Given the description of an element on the screen output the (x, y) to click on. 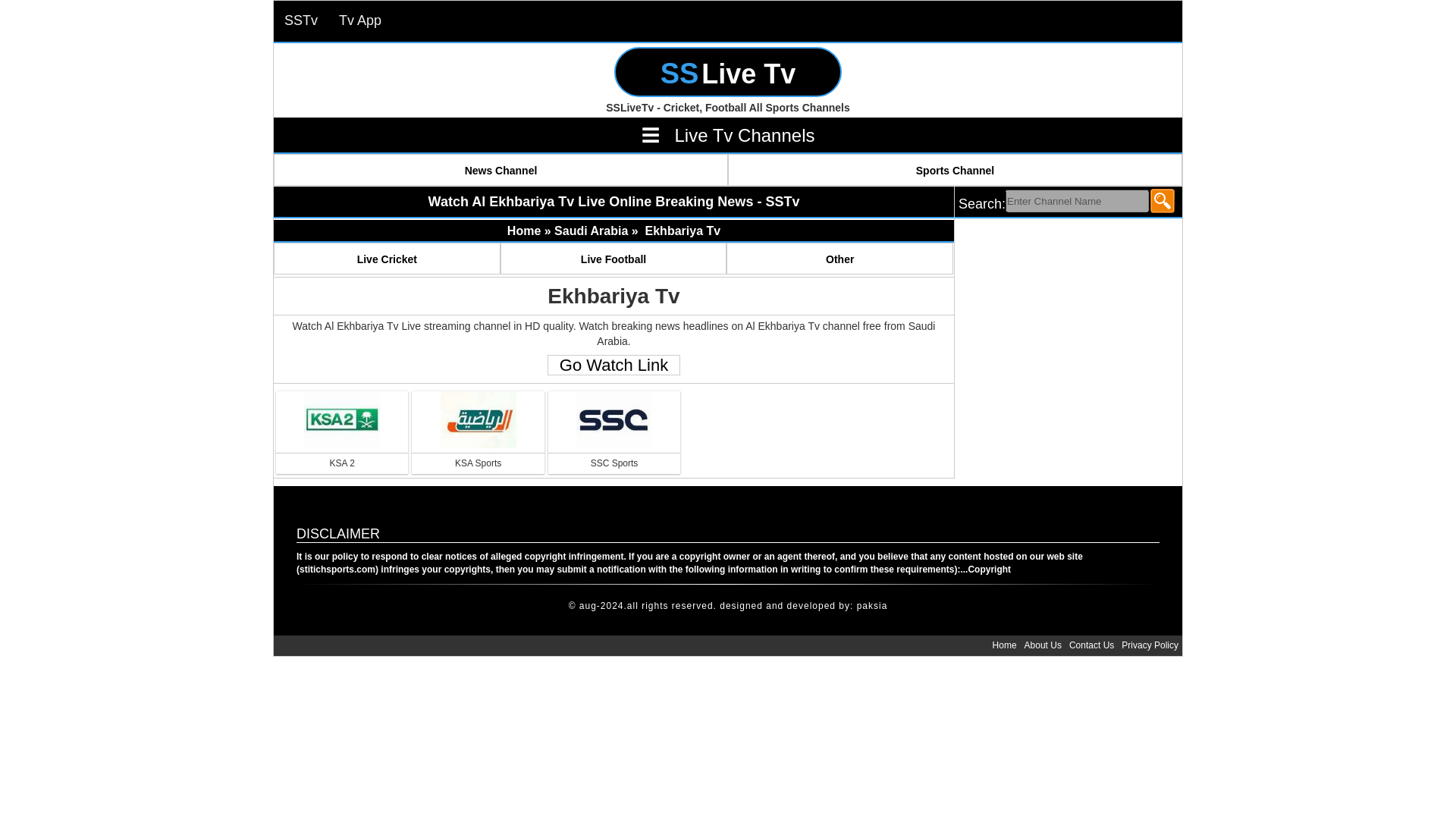
Enter Channel Name (1077, 200)
SSTv (301, 20)
Tv App (360, 20)
